Given the description of an element on the screen output the (x, y) to click on. 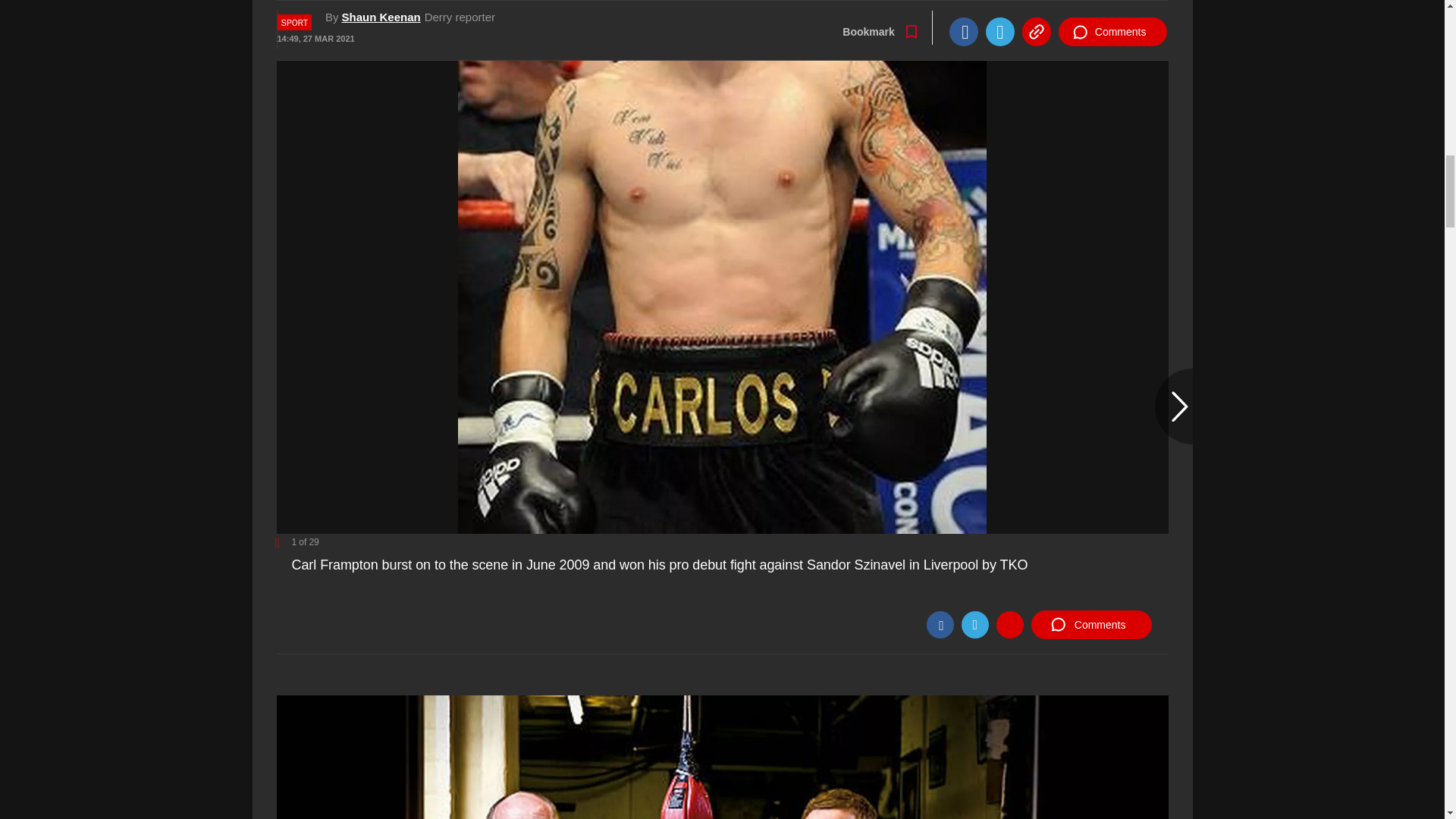
Twitter (974, 624)
Comments (1090, 624)
Facebook (939, 624)
